Given the description of an element on the screen output the (x, y) to click on. 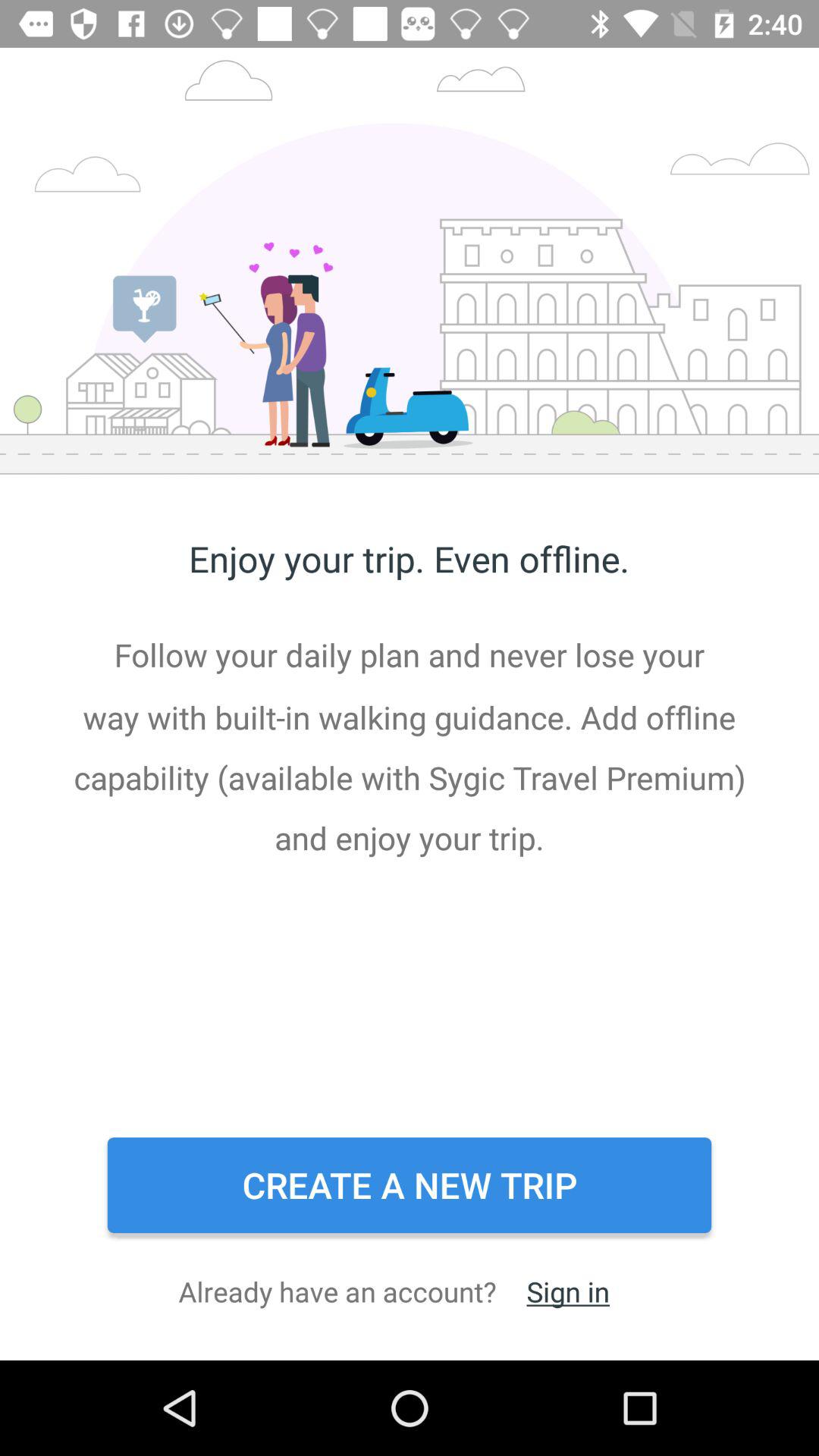
select the sign in item (567, 1291)
